Given the description of an element on the screen output the (x, y) to click on. 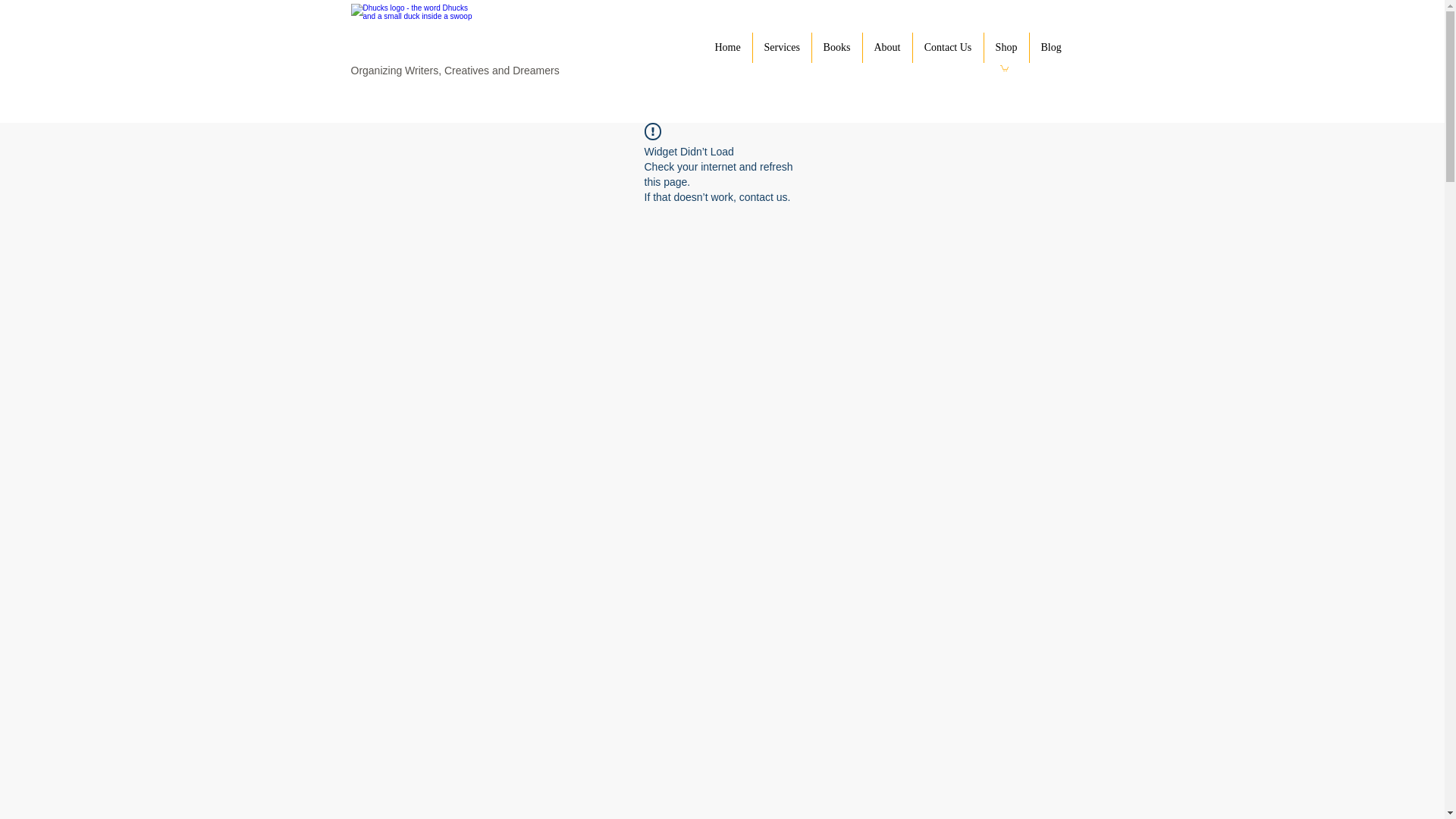
Services (781, 47)
Blog (1051, 47)
Books (835, 47)
! (653, 131)
Shop (1006, 47)
Dhucks logo.jpg (413, 34)
About (887, 47)
Organizing Writers, Creatives and Dreamers (454, 70)
Contact Us (948, 47)
Home (727, 47)
